Given the description of an element on the screen output the (x, y) to click on. 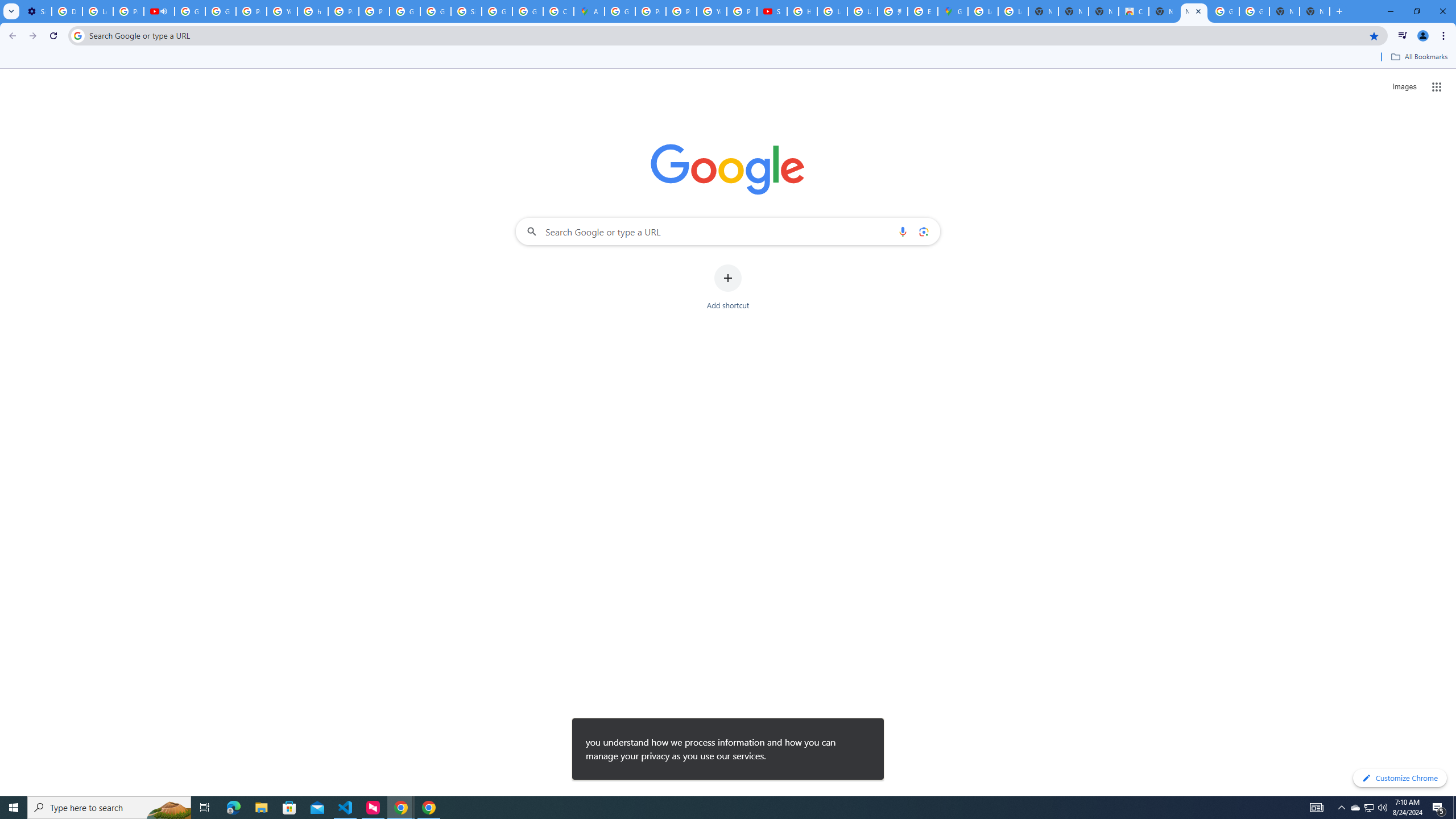
How Chrome protects your passwords - Google Chrome Help (801, 11)
Delete photos & videos - Computer - Google Photos Help (66, 11)
